Given the description of an element on the screen output the (x, y) to click on. 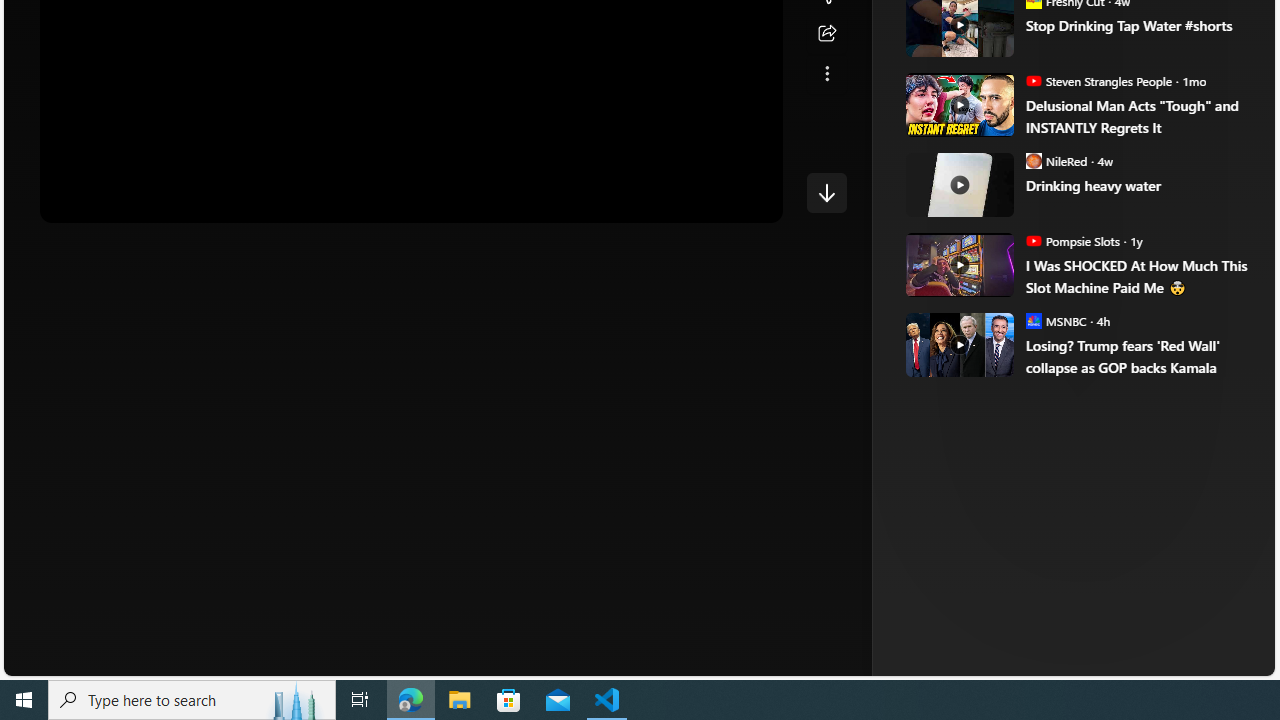
Feedback (1199, 659)
